Given the description of an element on the screen output the (x, y) to click on. 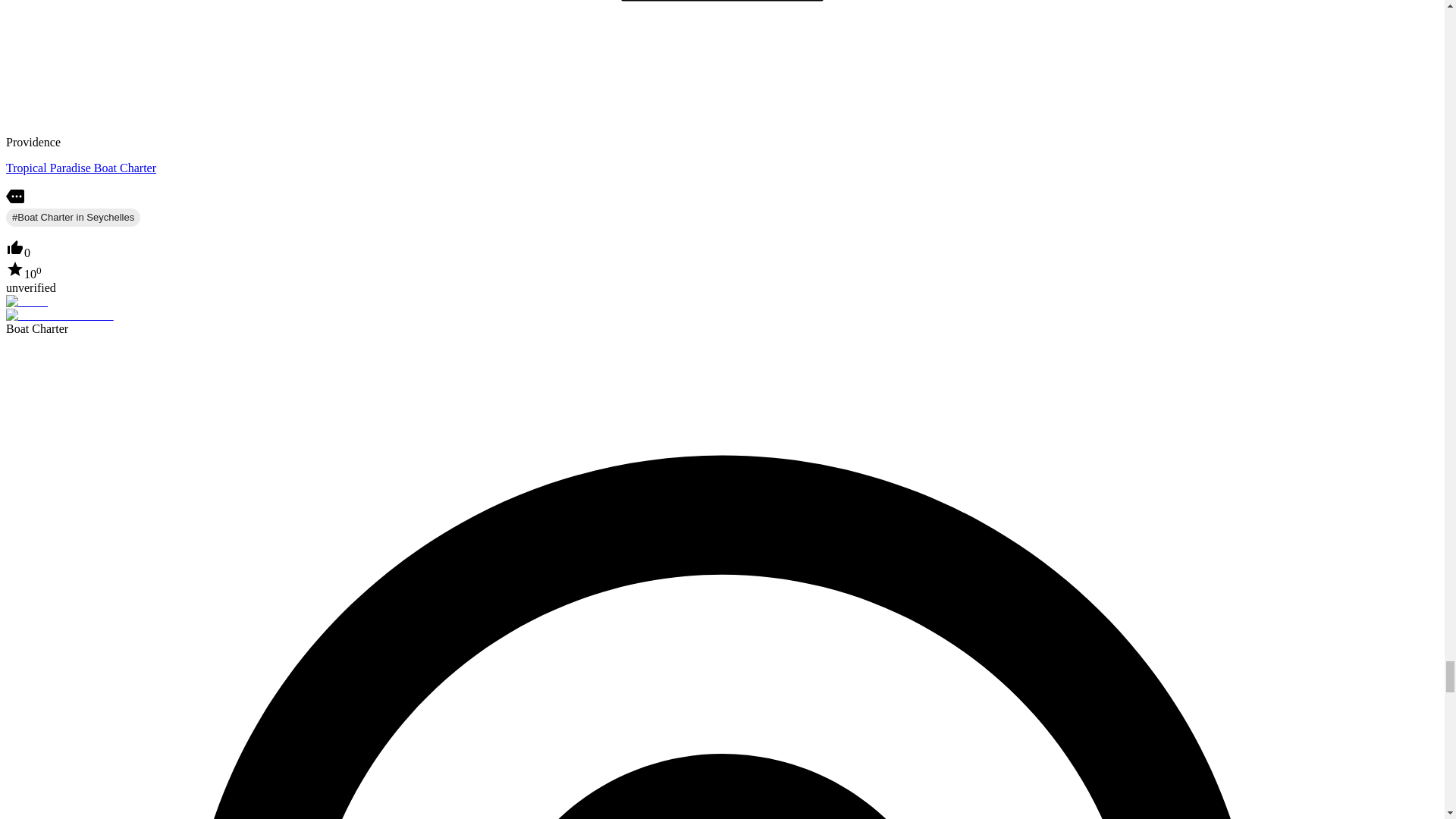
Tropical Paradise Boat Charter Seychelles (80, 167)
